Given the description of an element on the screen output the (x, y) to click on. 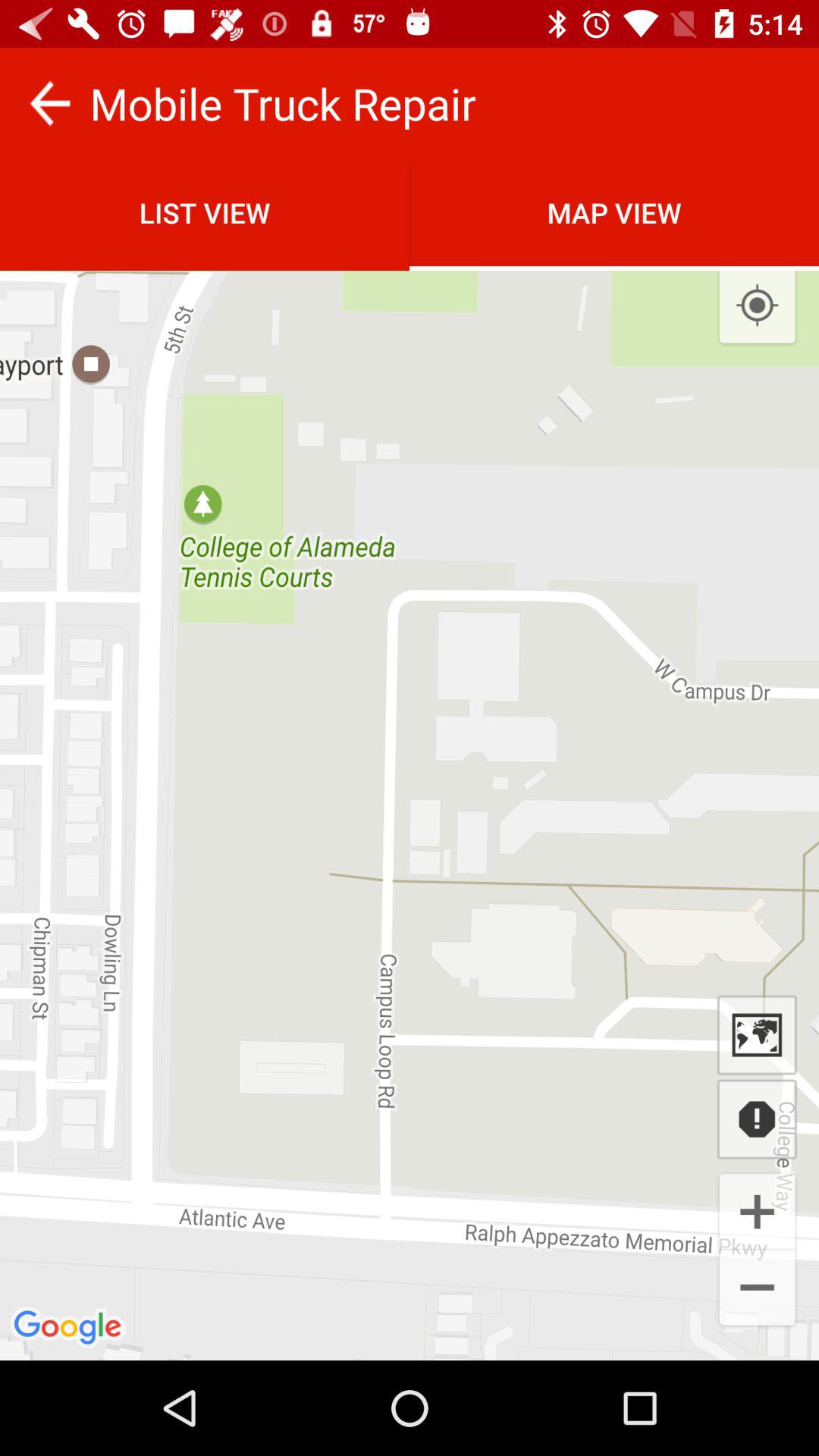
turn off the app to the left of the map view icon (204, 212)
